Given the description of an element on the screen output the (x, y) to click on. 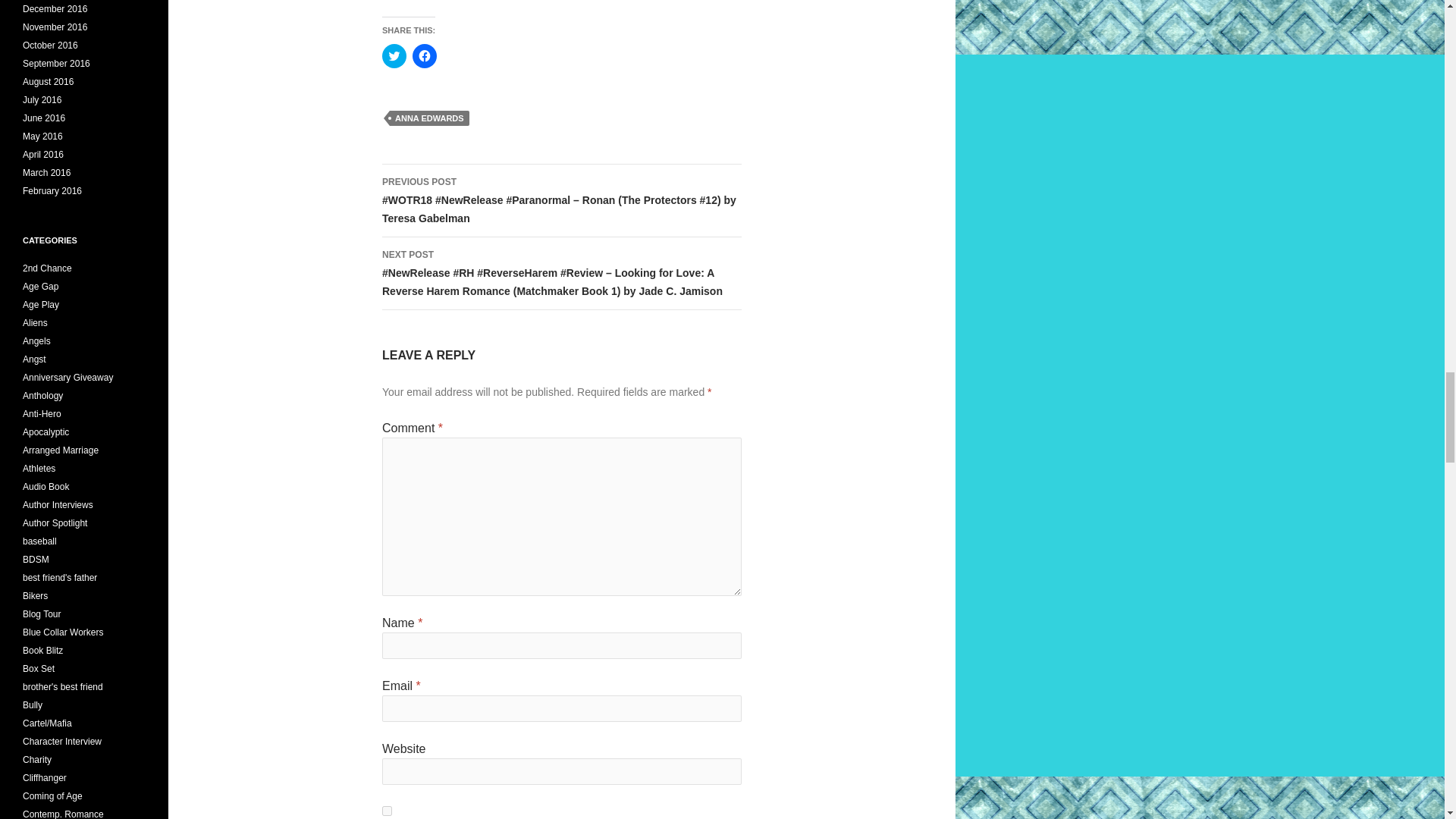
Click to share on Twitter (393, 55)
ANNA EDWARDS (429, 118)
yes (386, 810)
Click to share on Facebook (424, 55)
